Given the description of an element on the screen output the (x, y) to click on. 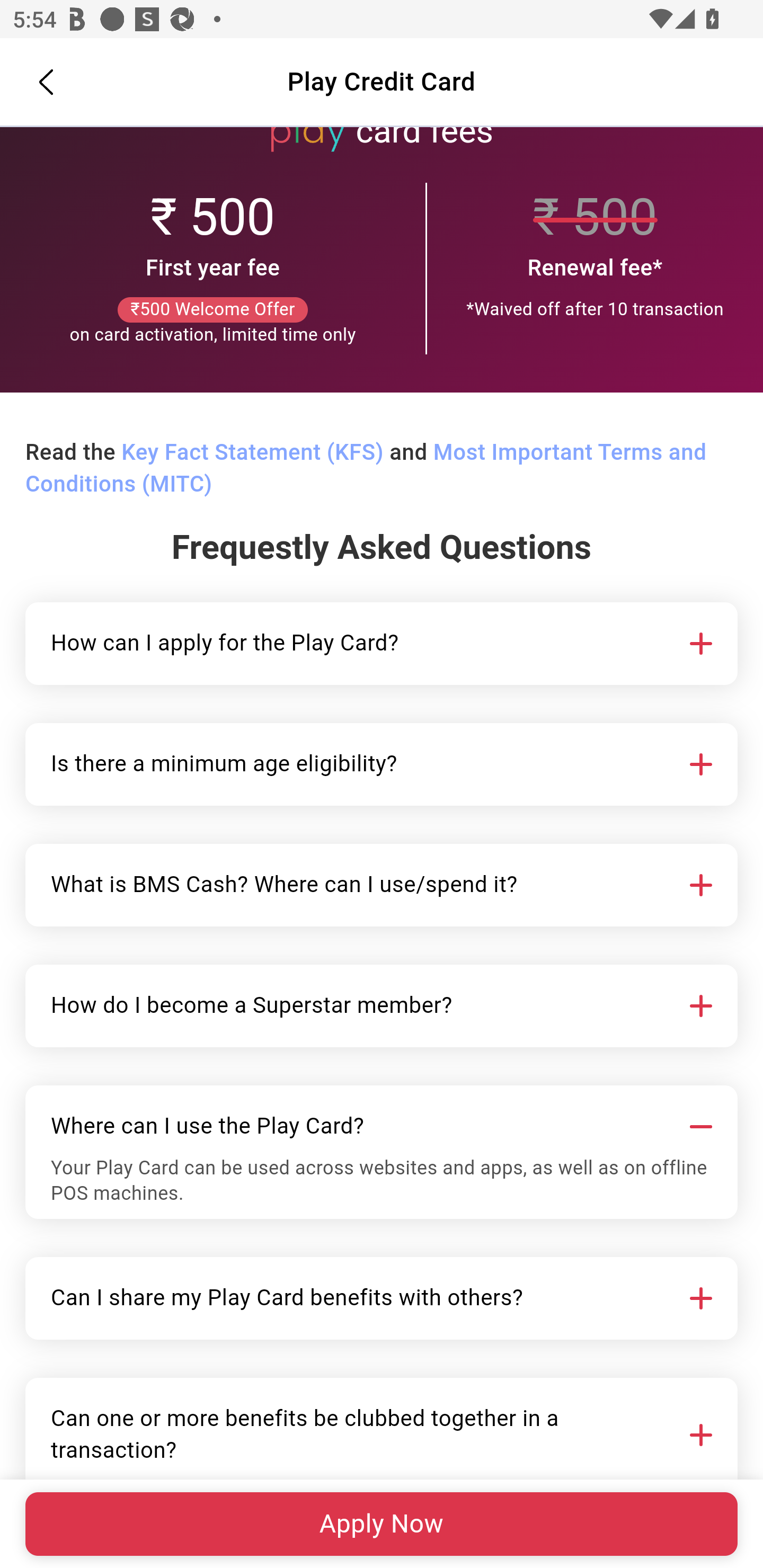
Most Important Terms and Conditions (MITC) (366, 469)
Key Fact Statement (KFS) (252, 453)
